Given the description of an element on the screen output the (x, y) to click on. 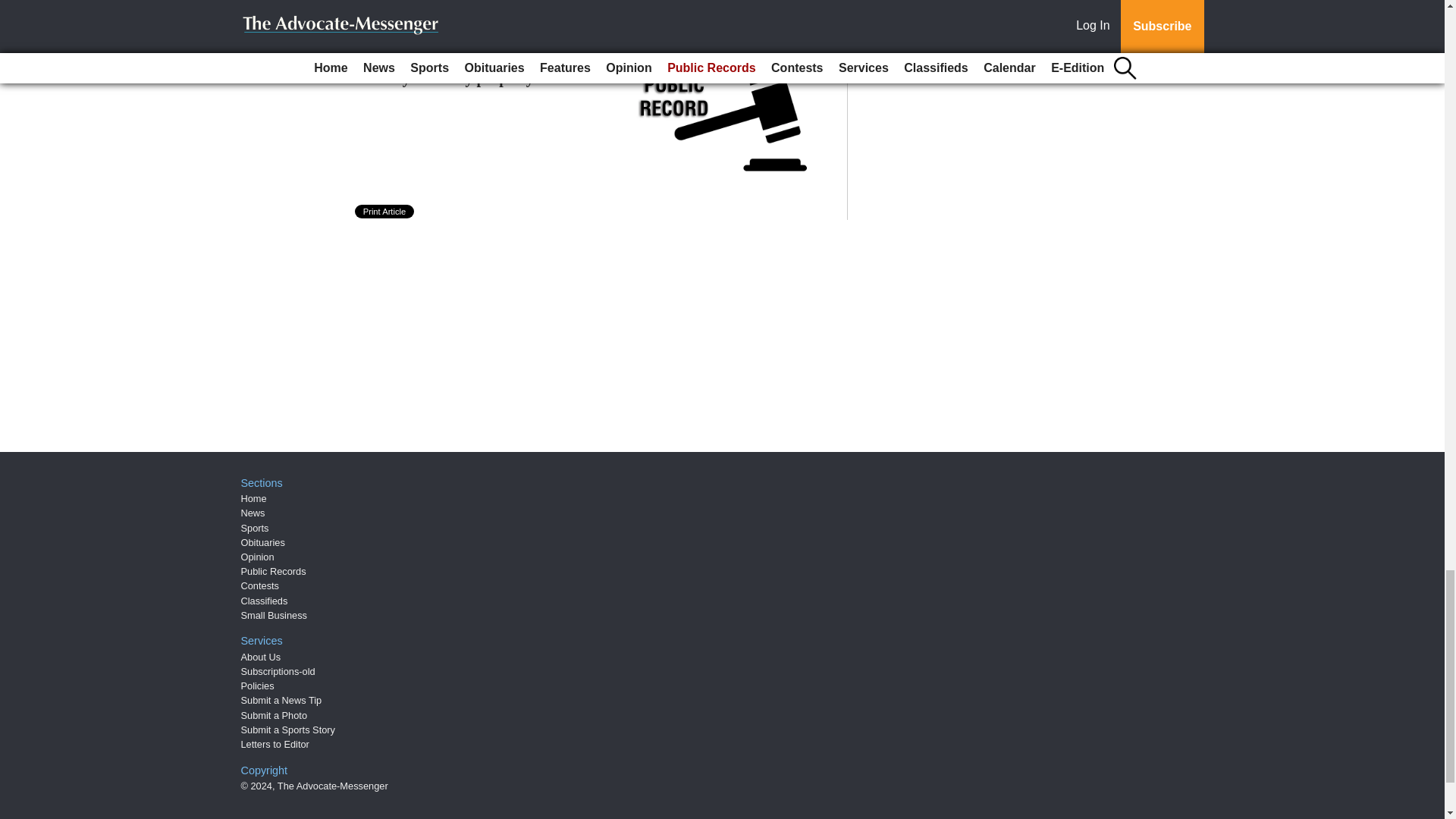
Print Article (384, 211)
Boyle County property transfers (490, 77)
Boyle County property transfers (490, 77)
